Given the description of an element on the screen output the (x, y) to click on. 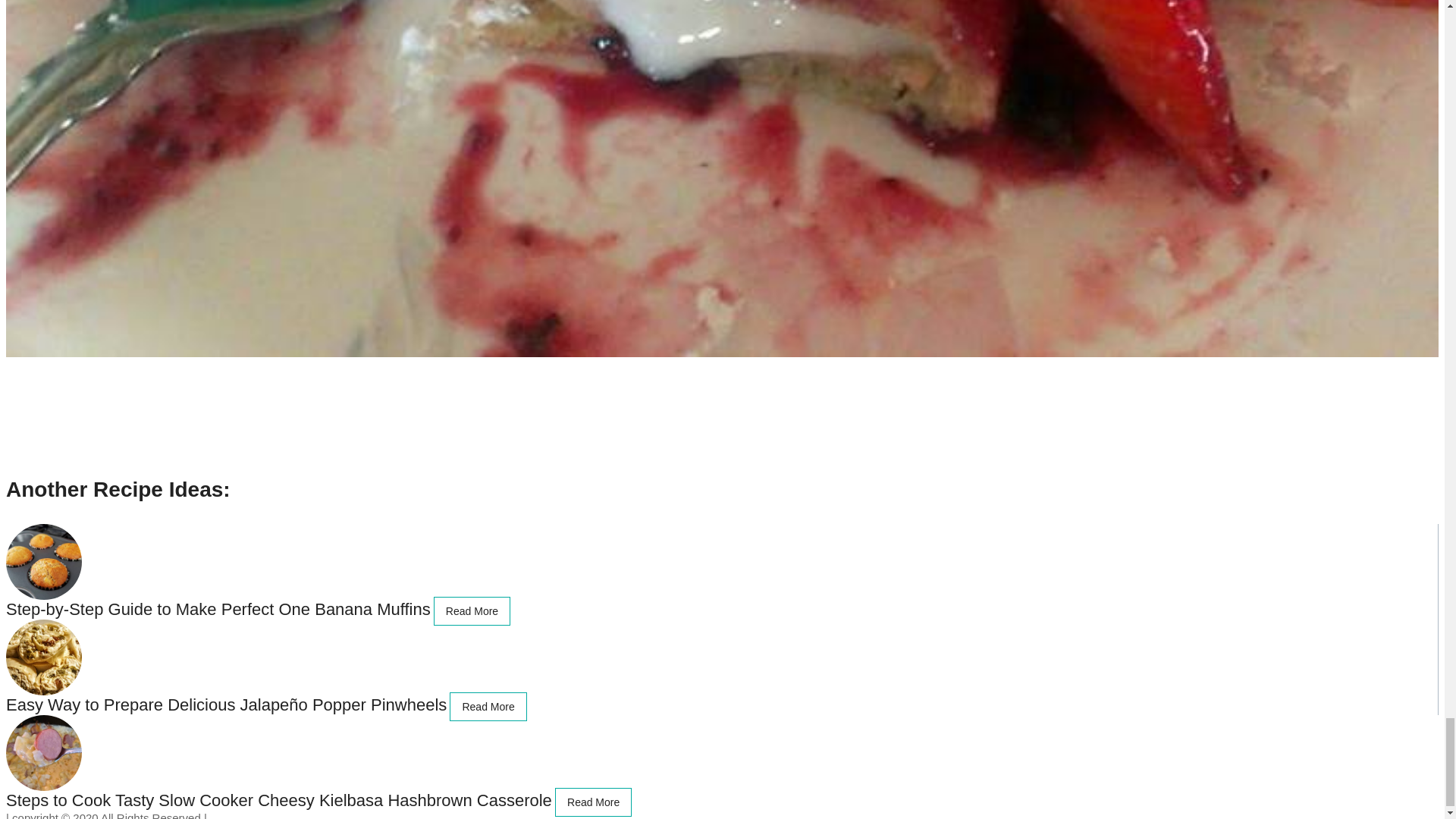
Read More (592, 801)
Read More (487, 706)
Read More (472, 611)
Step-by-Step Guide to Make Perfect One Banana Muffins (217, 609)
